Given the description of an element on the screen output the (x, y) to click on. 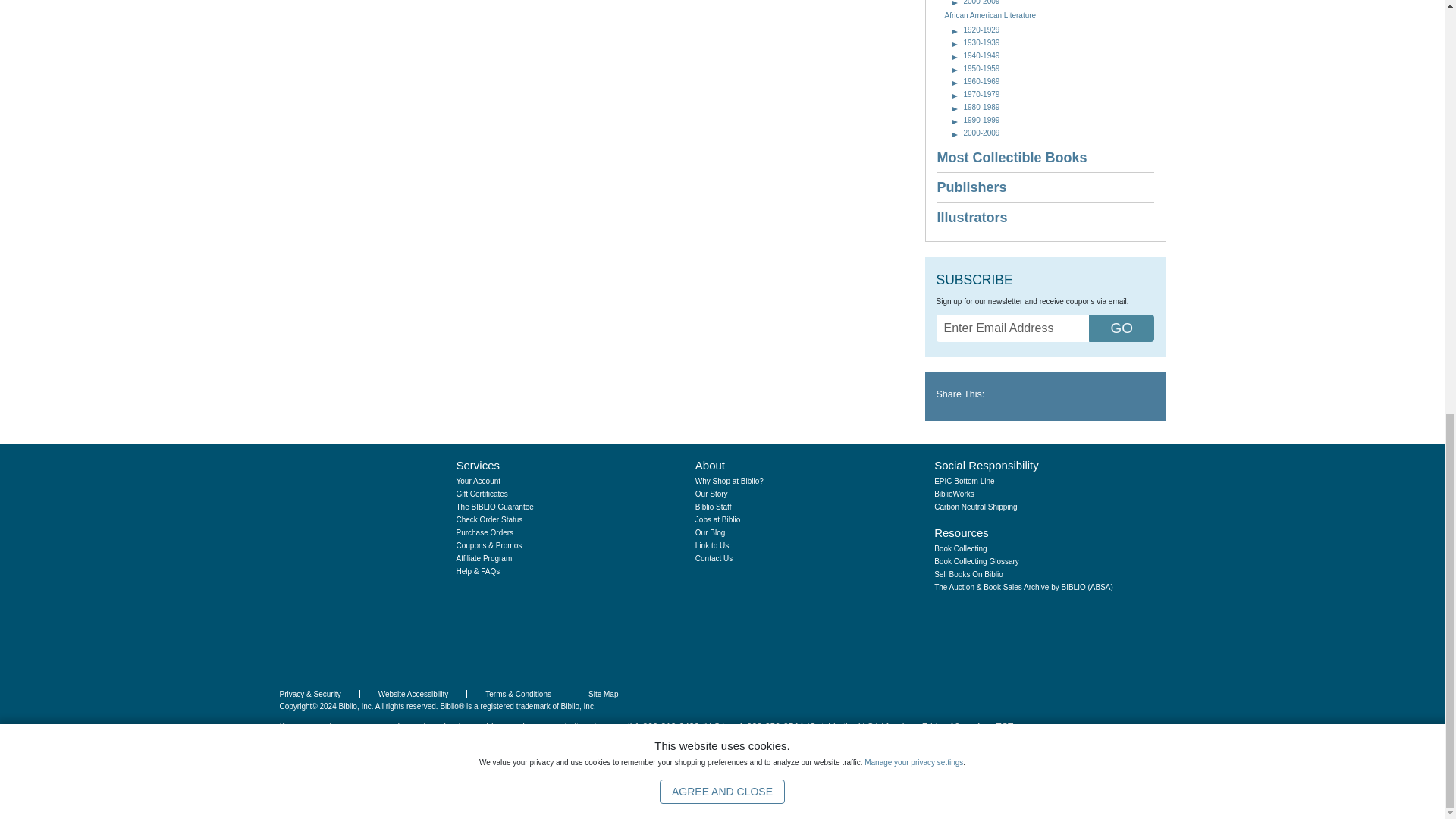
Visit our Twitter page (981, 613)
Visit our Instagram page (957, 613)
Share on Tumblr (1036, 394)
Click for the Better Business Bureau review of Biblio, Inc. (1118, 716)
Share this on Twitter (1014, 394)
